Given the description of an element on the screen output the (x, y) to click on. 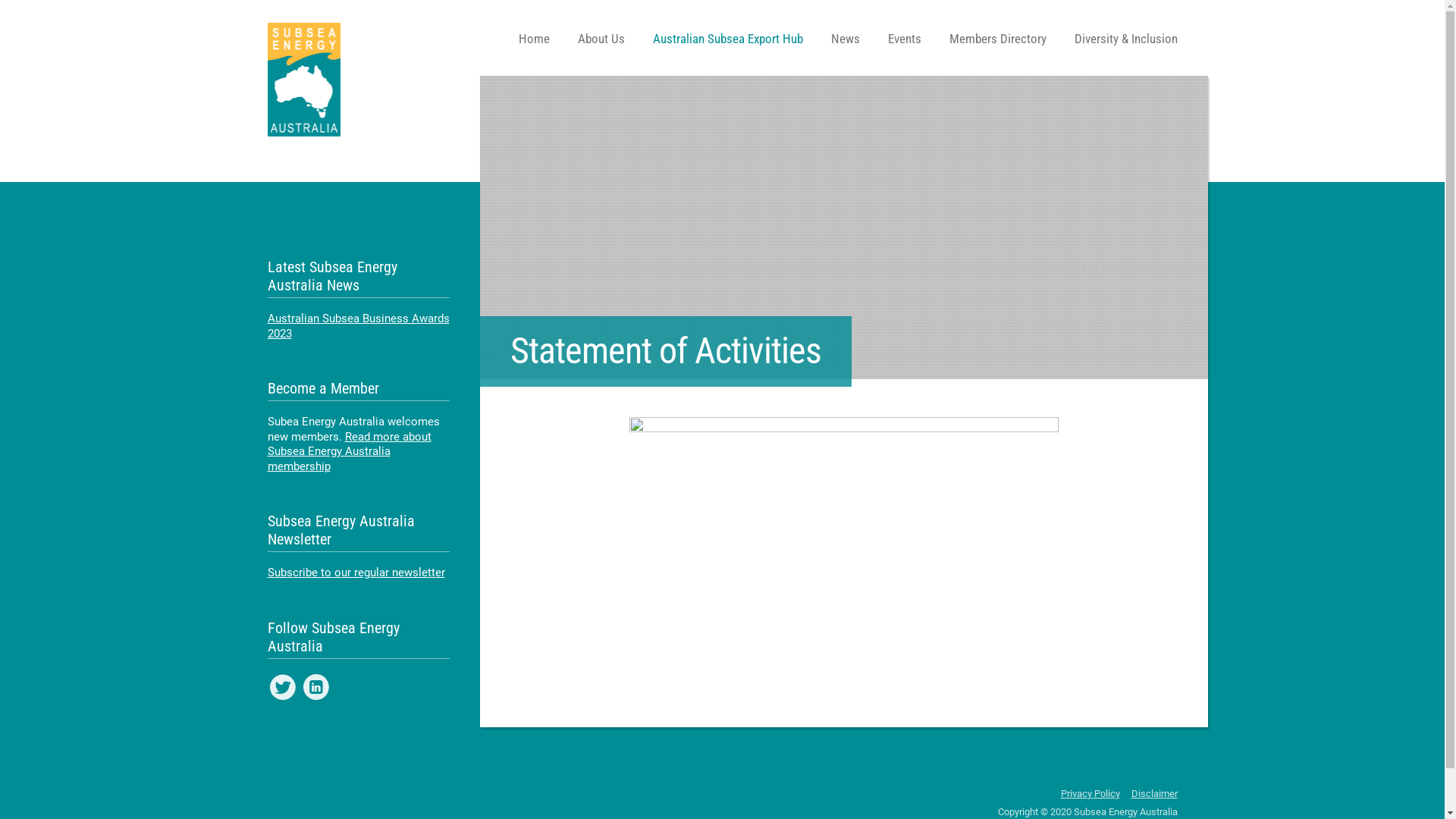
Home Element type: text (533, 38)
Australian Subsea Business Awards 2023 Element type: text (357, 326)
Disclaimer Element type: text (1154, 792)
News Element type: text (845, 38)
About Us Element type: text (600, 38)
Events Element type: text (903, 38)
Diversity & Inclusion Element type: text (1124, 38)
Read more about Subsea Energy Australia membership Element type: text (348, 450)
Members Directory Element type: text (997, 38)
Australian Subsea Export Hub Element type: text (727, 38)
SEA Element type: text (302, 79)
Subscribe to our regular newsletter Element type: text (355, 572)
Privacy Policy Element type: text (1089, 792)
